Given the description of an element on the screen output the (x, y) to click on. 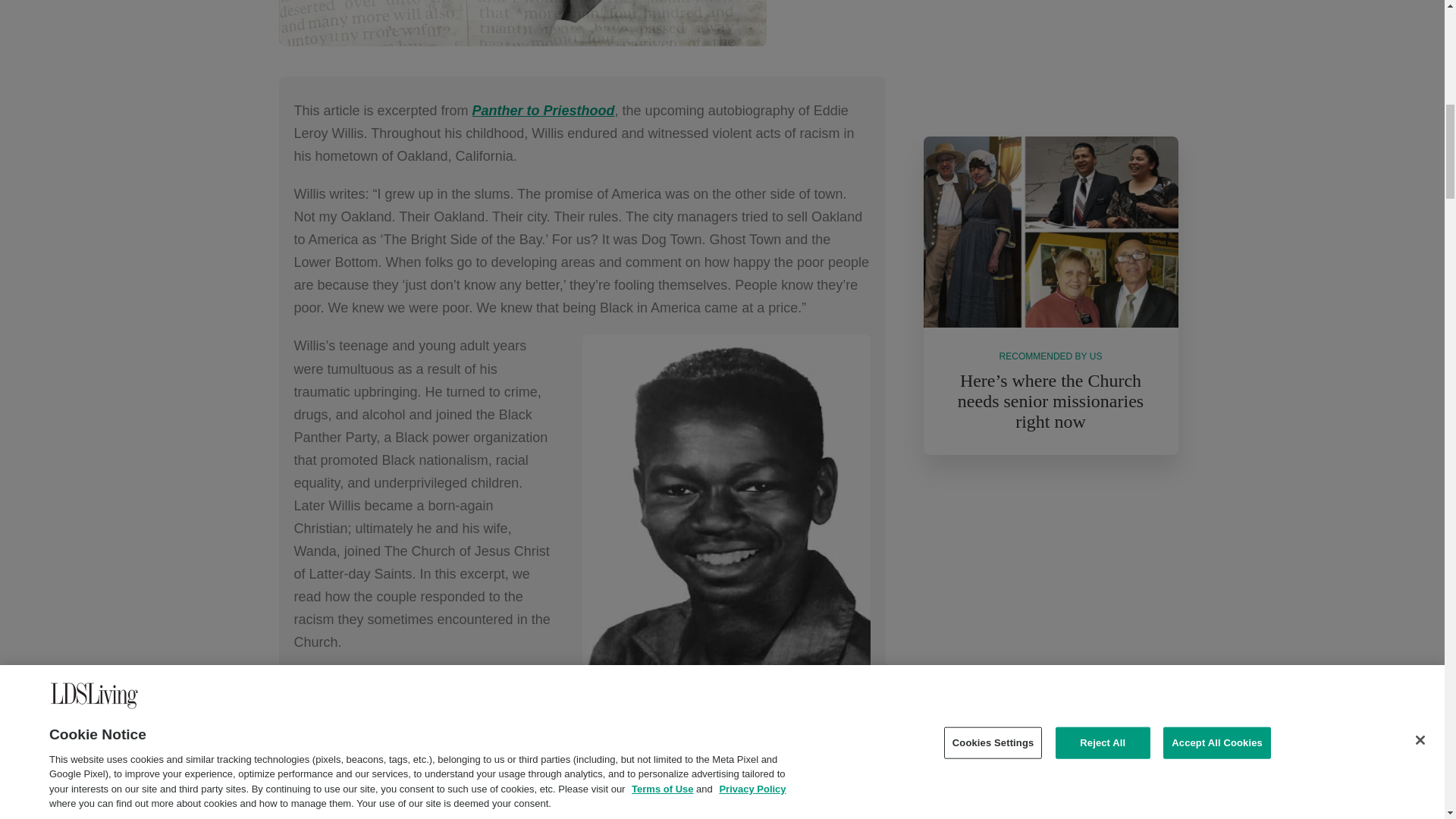
3rd party ad content (1050, 53)
